Given the description of an element on the screen output the (x, y) to click on. 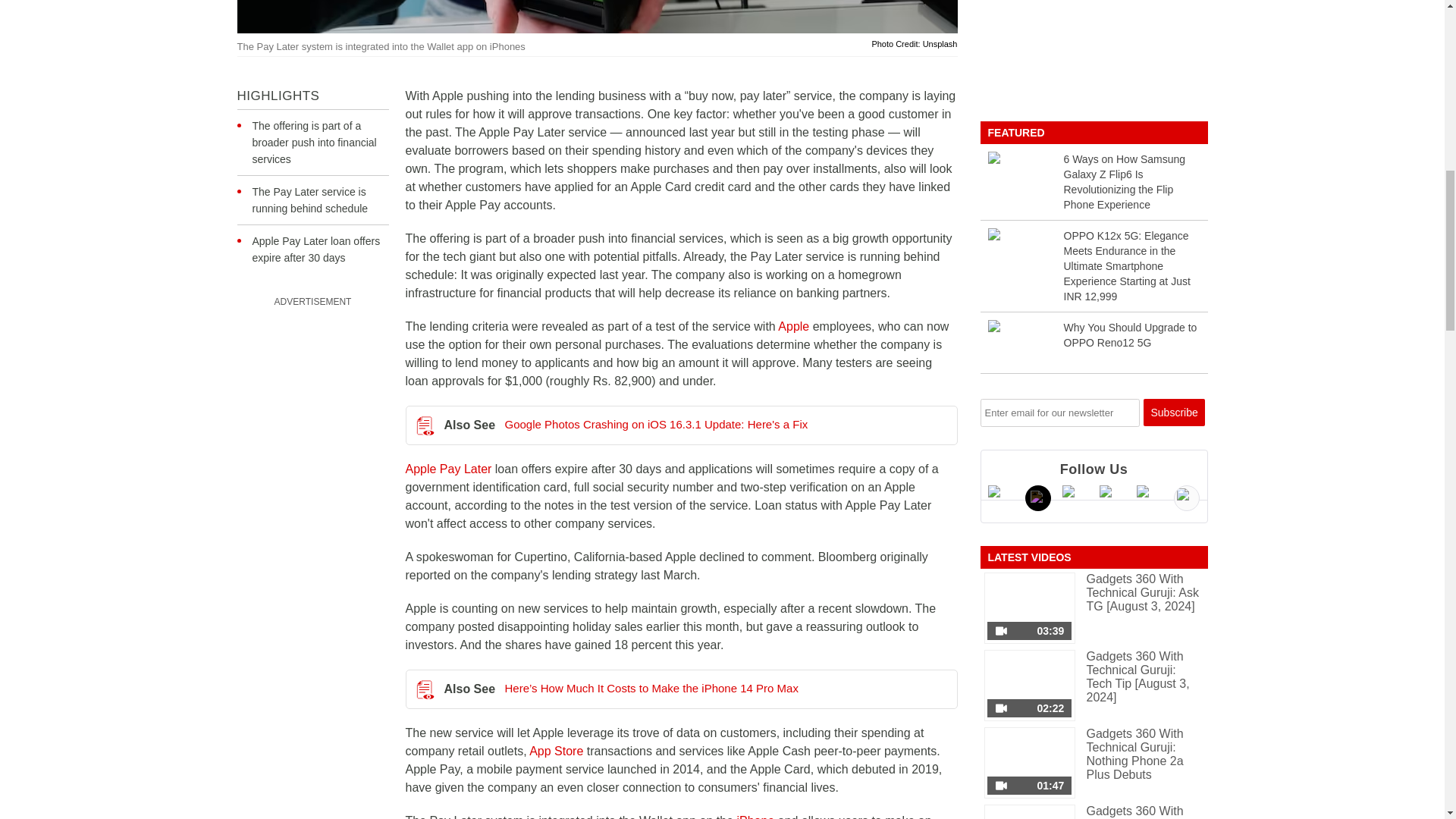
Subscribe (1173, 411)
